Given the description of an element on the screen output the (x, y) to click on. 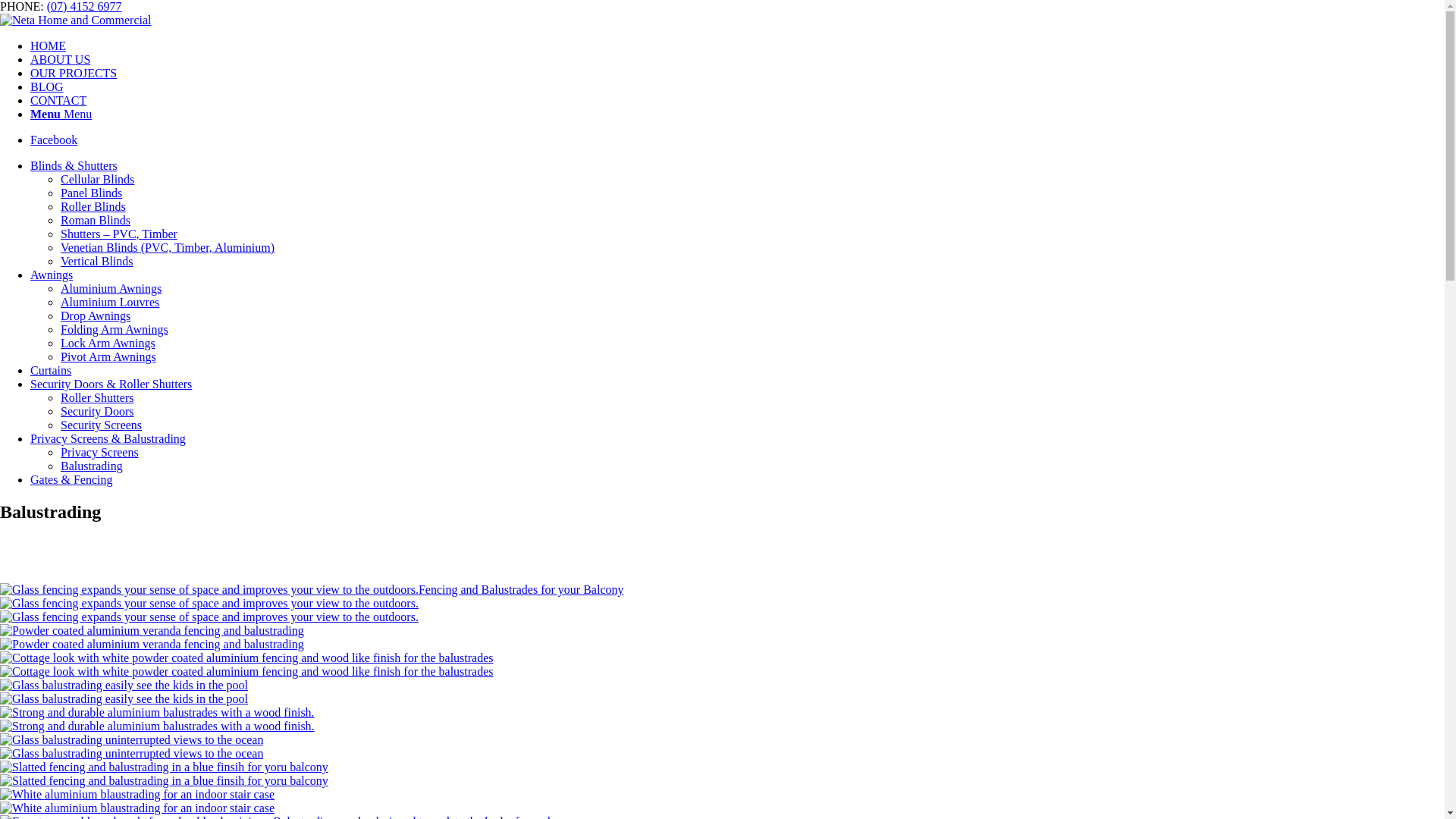
Balustrading and verandah fencing on new home Element type: hover (157, 726)
Menu Menu Element type: text (60, 113)
Drop Awnings Element type: text (95, 315)
Aluminium Louvres Element type: text (109, 301)
Glass-balustrading-image-7 Element type: hover (131, 739)
Aluminium Awnings Element type: text (110, 288)
Gates & Fencing Element type: text (71, 479)
Verandah Fencing Element type: hover (152, 630)
Verandah Fencing in durable aluminium Element type: hover (722, 644)
Balustrading and fencing for the balcony Element type: hover (164, 780)
Indoor Balustrading Element type: hover (137, 794)
Fencing and Balustrades for your Balcony Element type: hover (209, 589)
Venetian Blinds (PVC, Timber, Aluminium) Element type: text (167, 247)
HOME Element type: text (47, 45)
Glass-balustrading-image-7 Element type: hover (131, 753)
Fencing and Balustrades for your Balcony Element type: text (311, 589)
ABOUT US Element type: text (60, 59)
Glass-Balustrading-image-6 Element type: hover (123, 699)
Facebook Element type: text (53, 139)
Fencing and Balustrades for your Balcony Element type: hover (209, 603)
Roller Blinds Element type: text (92, 206)
Balustrading Element type: hover (246, 658)
Neta-Logo-Header Element type: hover (75, 20)
Balustrading and fencing for the balcony Element type: hover (164, 767)
Blinds & Shutters Element type: text (73, 165)
Security Doors Element type: text (96, 410)
Cottage look made from aluminium Element type: hover (722, 726)
Balustrading Element type: hover (246, 671)
Roman Blinds Element type: text (95, 219)
Security Doors & Roller Shutters Element type: text (110, 383)
Indoor Balustrading Element type: hover (137, 808)
Lock Arm Awnings Element type: text (107, 342)
OUR PROJECTS Element type: text (73, 72)
Fencing and Balustrades for your Balcony Element type: hover (722, 616)
BLOG Element type: text (46, 86)
(07) 4152 6977 Element type: text (84, 6)
Roller Shutters Element type: text (96, 397)
Awnings Element type: text (51, 274)
Fencing and Balustrades for your Balcony Element type: hover (209, 617)
Glass Pool Fencing and Folding Arm Awnings Element type: hover (722, 698)
Verandah Fencing Element type: hover (152, 644)
Panel Blinds Element type: text (91, 192)
Privacy Screens Element type: text (99, 451)
Security Screens Element type: text (100, 424)
Balustrading and verandah fencing on new home Element type: hover (157, 712)
Curtains Element type: text (50, 370)
Glass Balcony Fencing
 Element type: hover (722, 753)
Balustrading and fencing for the balcony Element type: hover (722, 780)
Cellular Blinds Element type: text (97, 178)
Vertical Blinds Element type: text (96, 260)
Folding Arm Awnings Element type: text (114, 329)
CONTACT Element type: text (58, 100)
Privacy Screens & Balustrading Element type: text (107, 438)
Balustrading Element type: text (91, 465)
Pivot Arm Awnings Element type: text (108, 356)
Glass-Balustrading-image-6 Element type: hover (123, 685)
Durable aluminium with a wood like finish Element type: hover (722, 671)
